Given the description of an element on the screen output the (x, y) to click on. 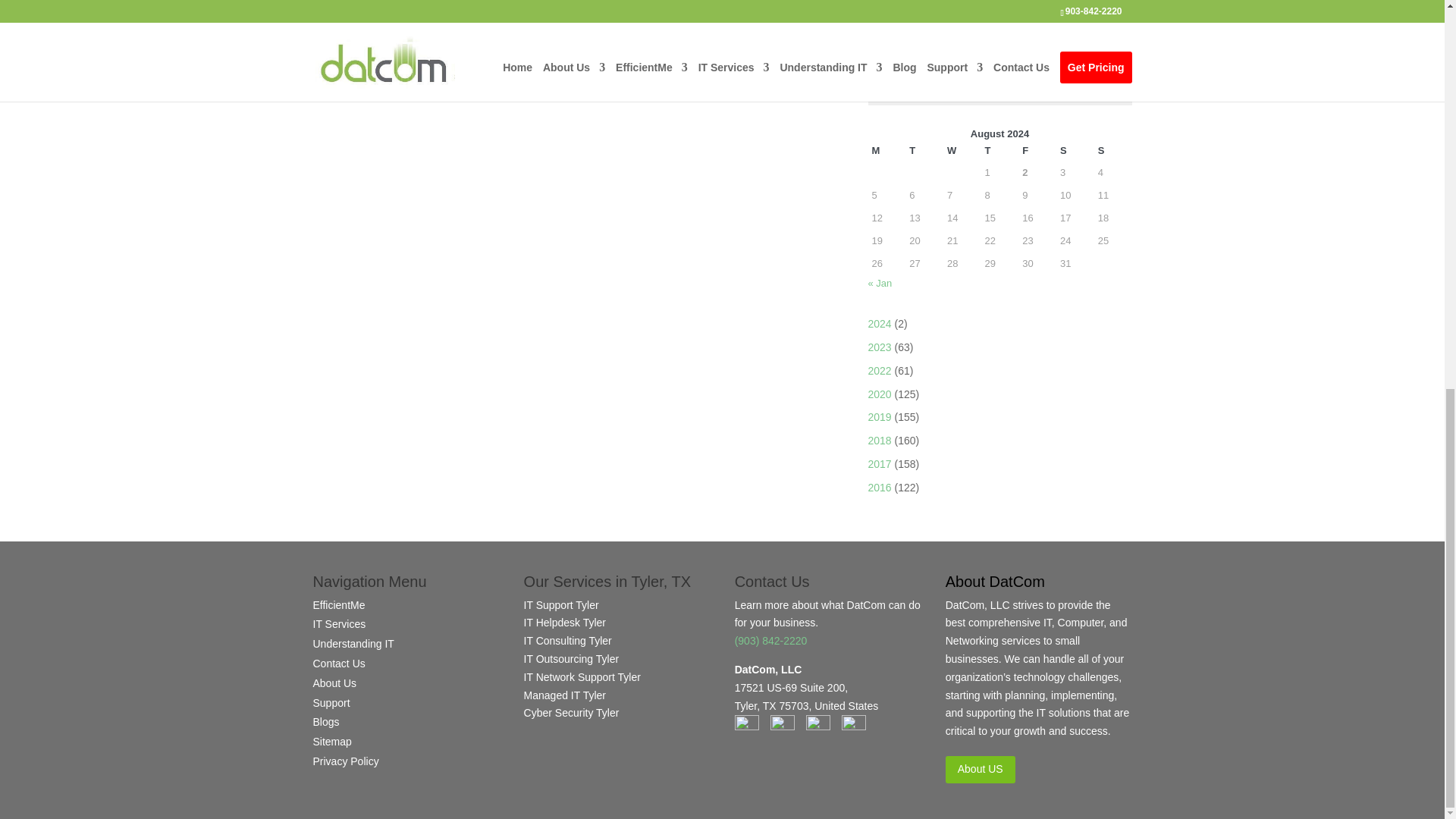
Friday (1037, 150)
Saturday (1075, 150)
Thursday (1000, 150)
Sunday (1113, 150)
Tuesday (924, 150)
Monday (886, 150)
Wednesday (962, 150)
